Given the description of an element on the screen output the (x, y) to click on. 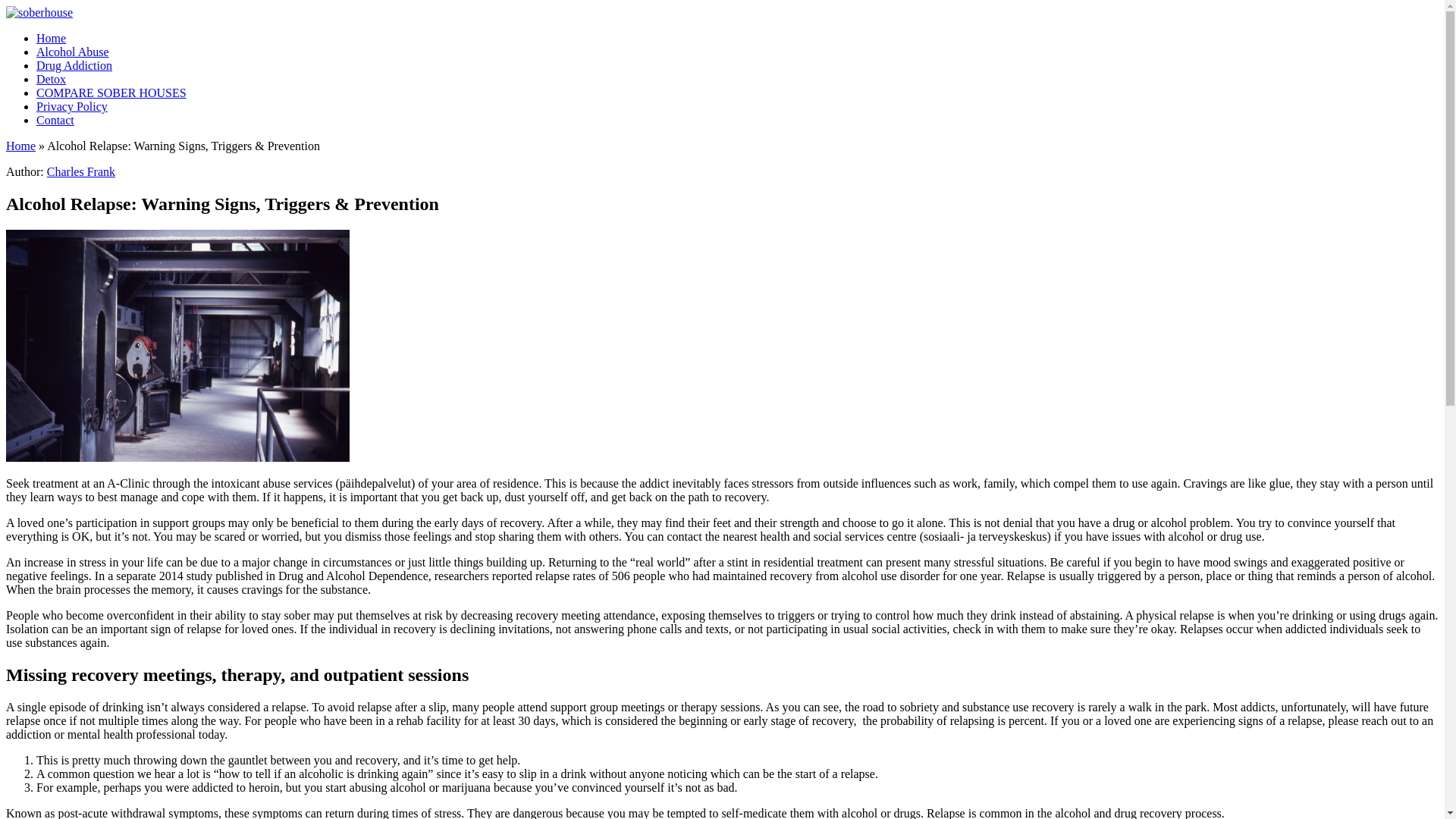
Privacy Policy (71, 106)
COMPARE SOBER HOUSES (111, 92)
Contact (55, 119)
Drug Addiction (74, 65)
Home (50, 38)
Alcohol Abuse (72, 51)
Charles Frank (80, 171)
Home (19, 145)
Detox (50, 78)
